Given the description of an element on the screen output the (x, y) to click on. 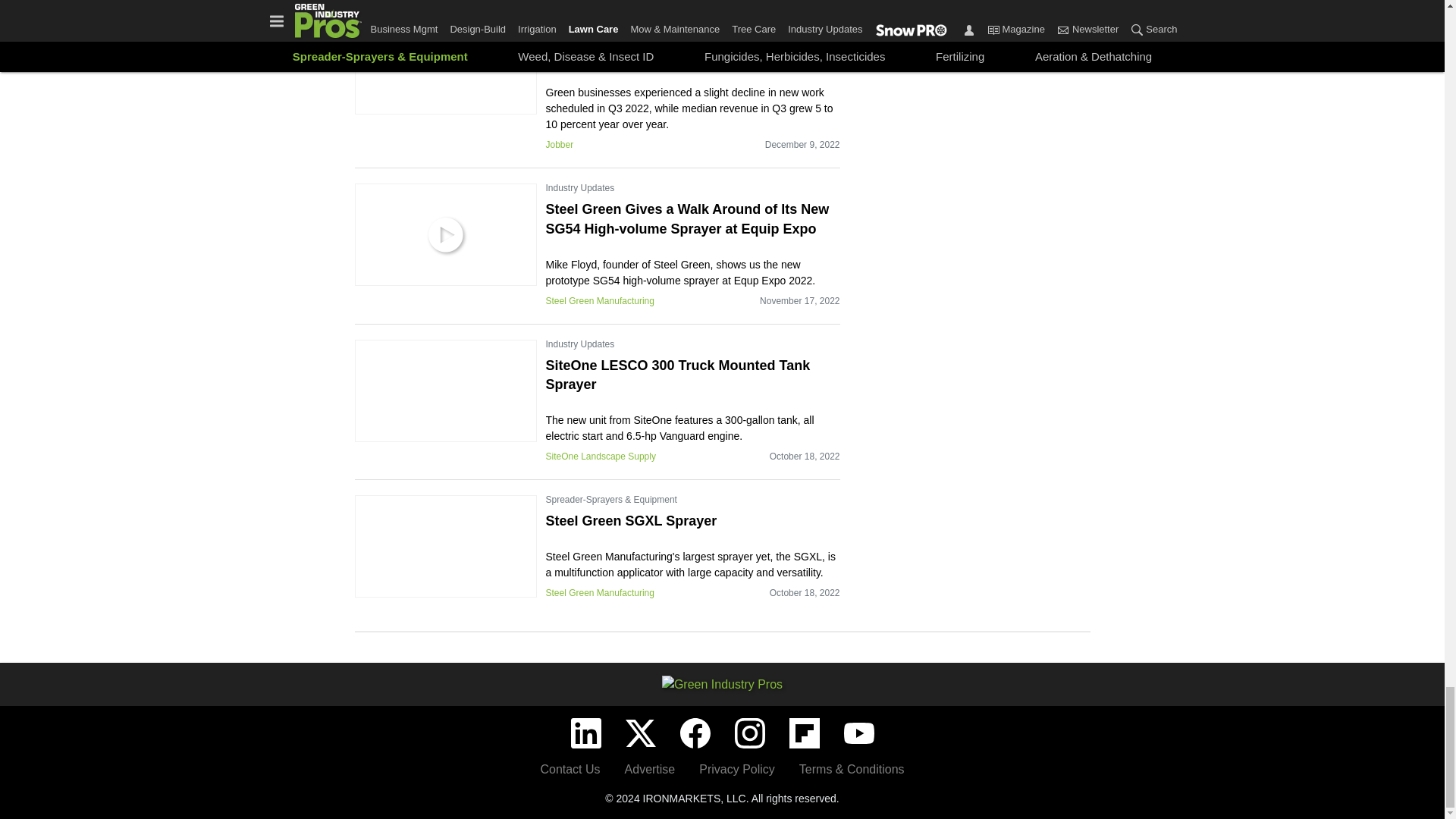
LinkedIn icon (584, 733)
Facebook icon (694, 733)
Twitter X icon (639, 733)
YouTube icon (858, 733)
Flipboard icon (803, 733)
Instagram icon (748, 733)
